Given the description of an element on the screen output the (x, y) to click on. 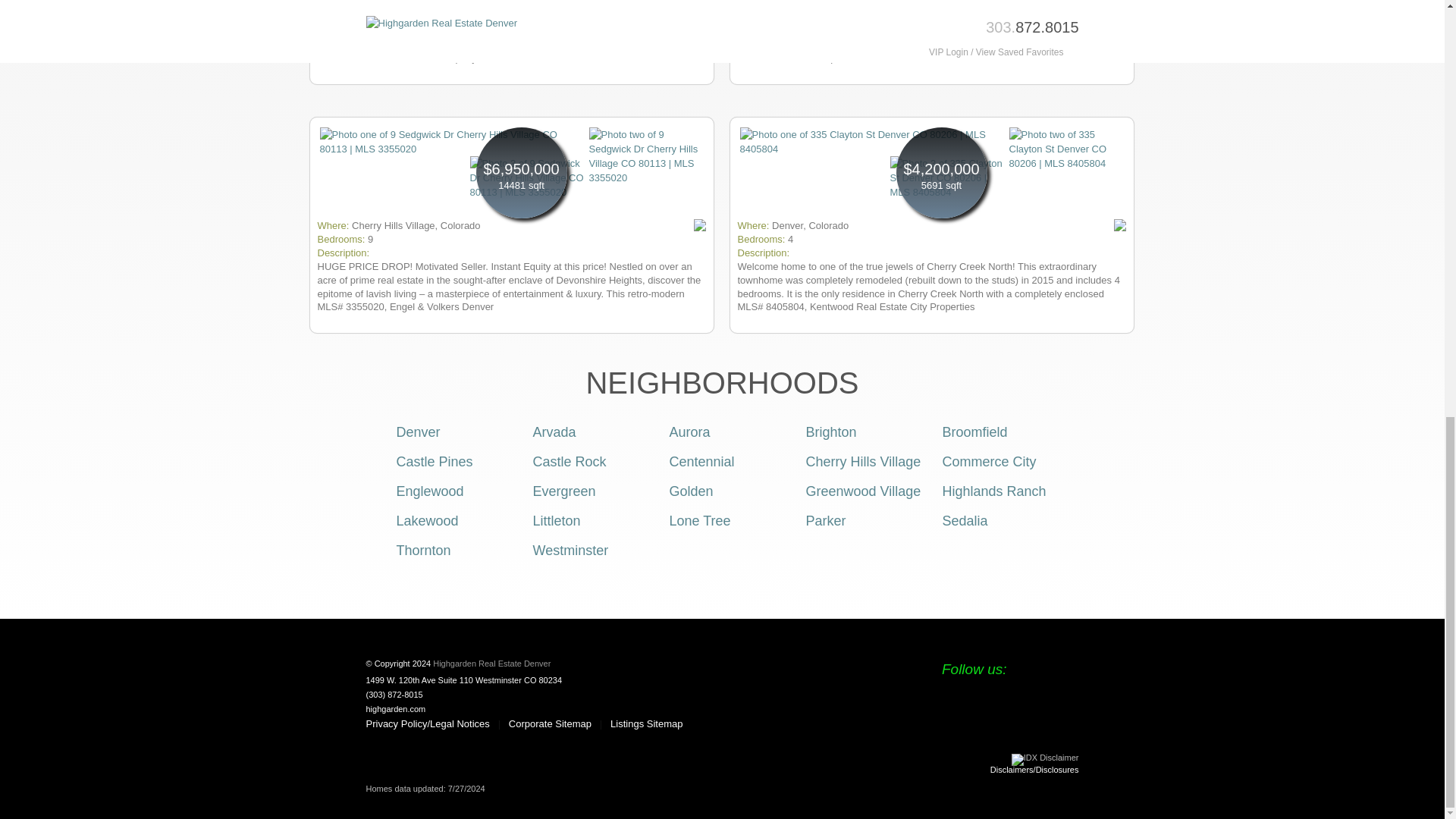
Denver (417, 432)
Aurora (689, 432)
Arvada (553, 432)
